Given the description of an element on the screen output the (x, y) to click on. 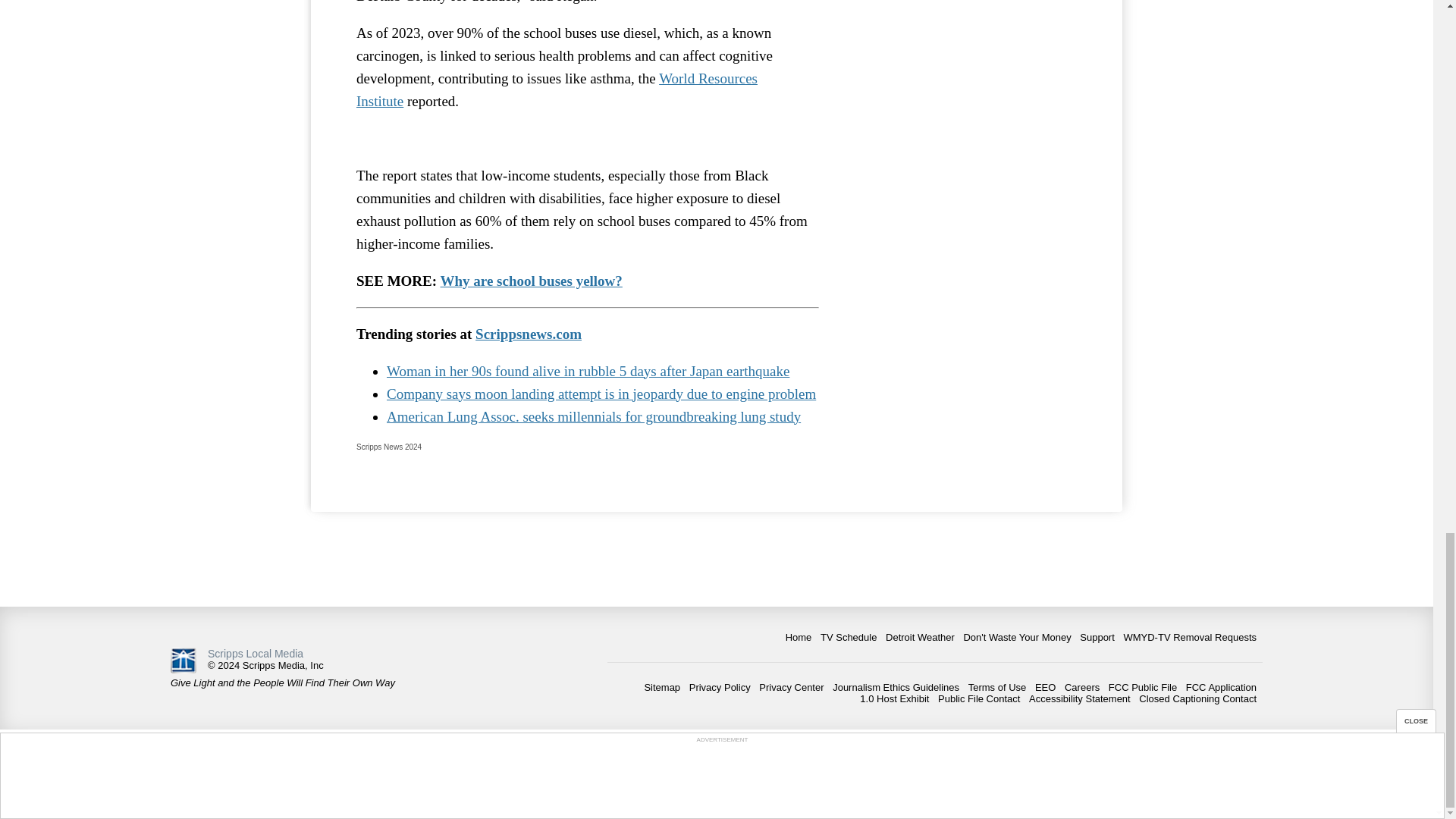
Scrippsnews.com (528, 333)
World Resources Institute (556, 89)
Why are school buses yellow? (532, 280)
